Given the description of an element on the screen output the (x, y) to click on. 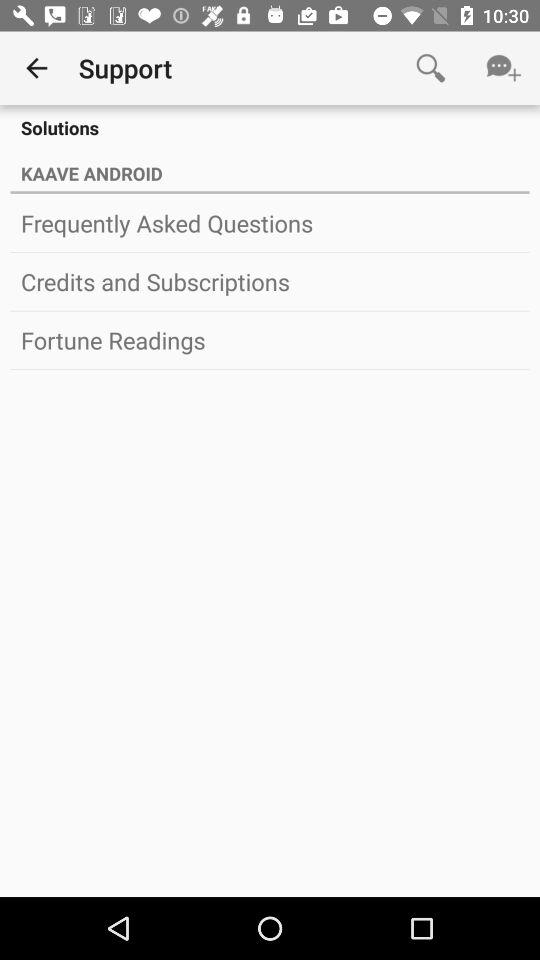
launch icon below the frequently asked questions item (269, 281)
